Given the description of an element on the screen output the (x, y) to click on. 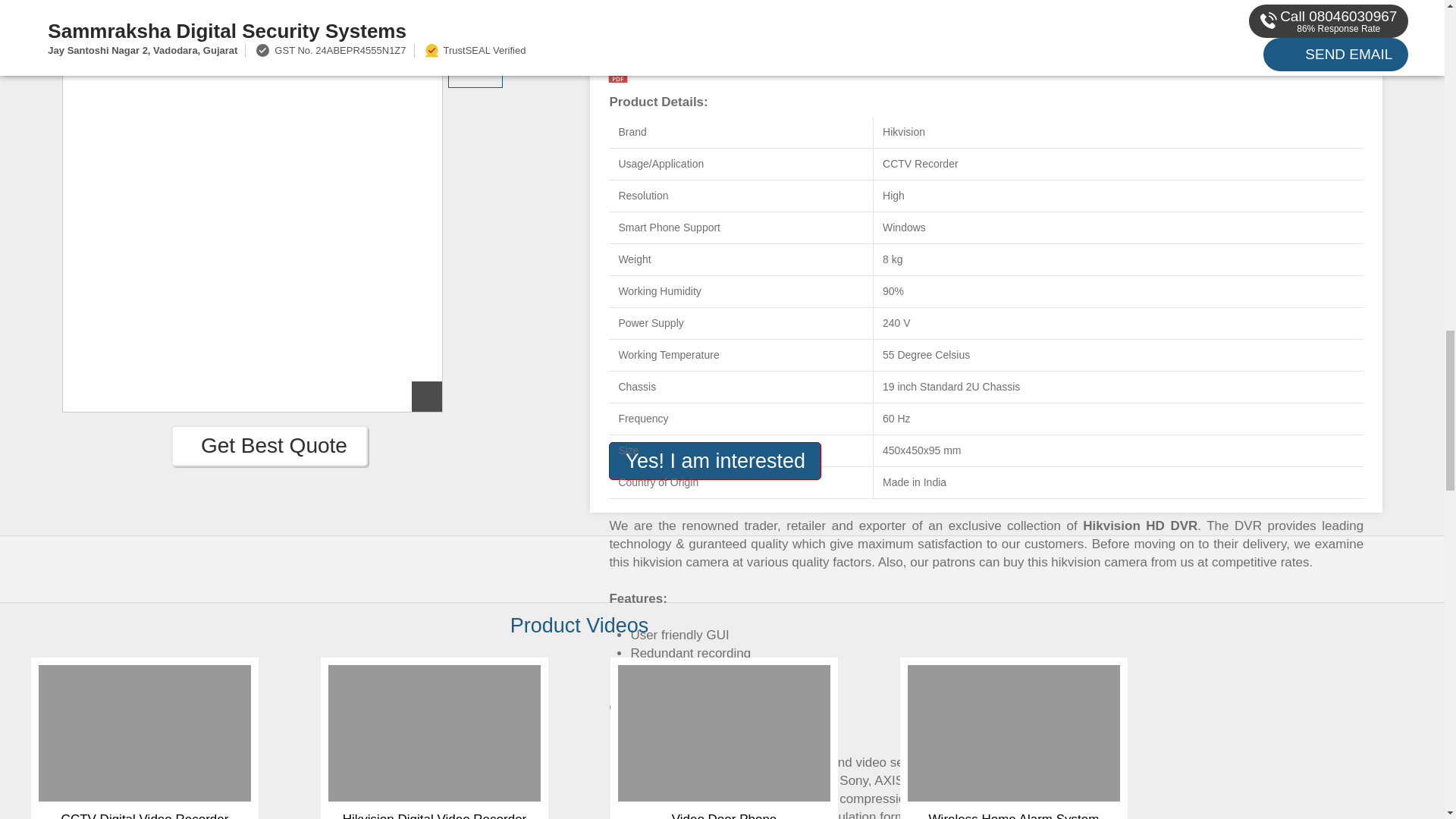
Get a Call from us (1332, 2)
